Given the description of an element on the screen output the (x, y) to click on. 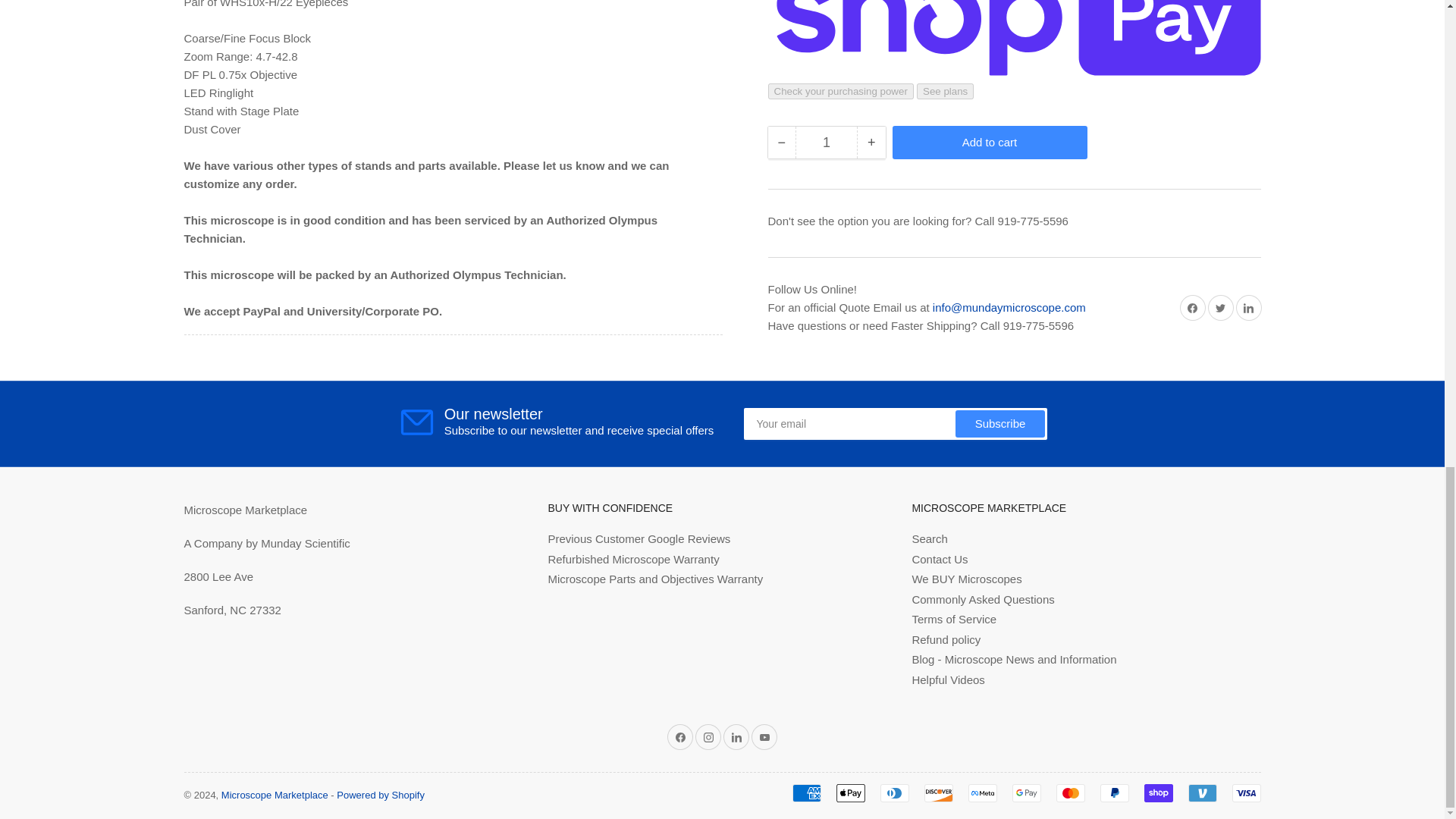
American Express (806, 792)
